Given the description of an element on the screen output the (x, y) to click on. 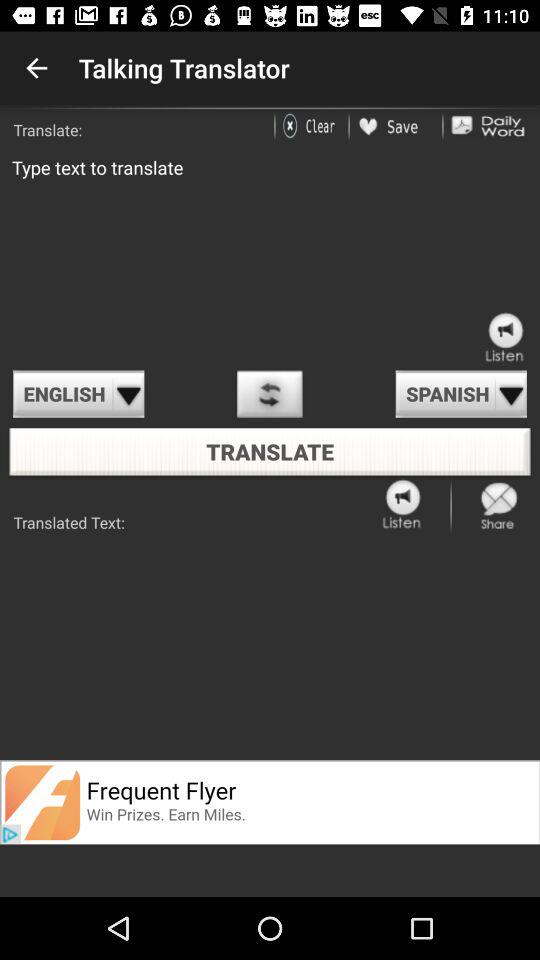
save the article (395, 125)
